Given the description of an element on the screen output the (x, y) to click on. 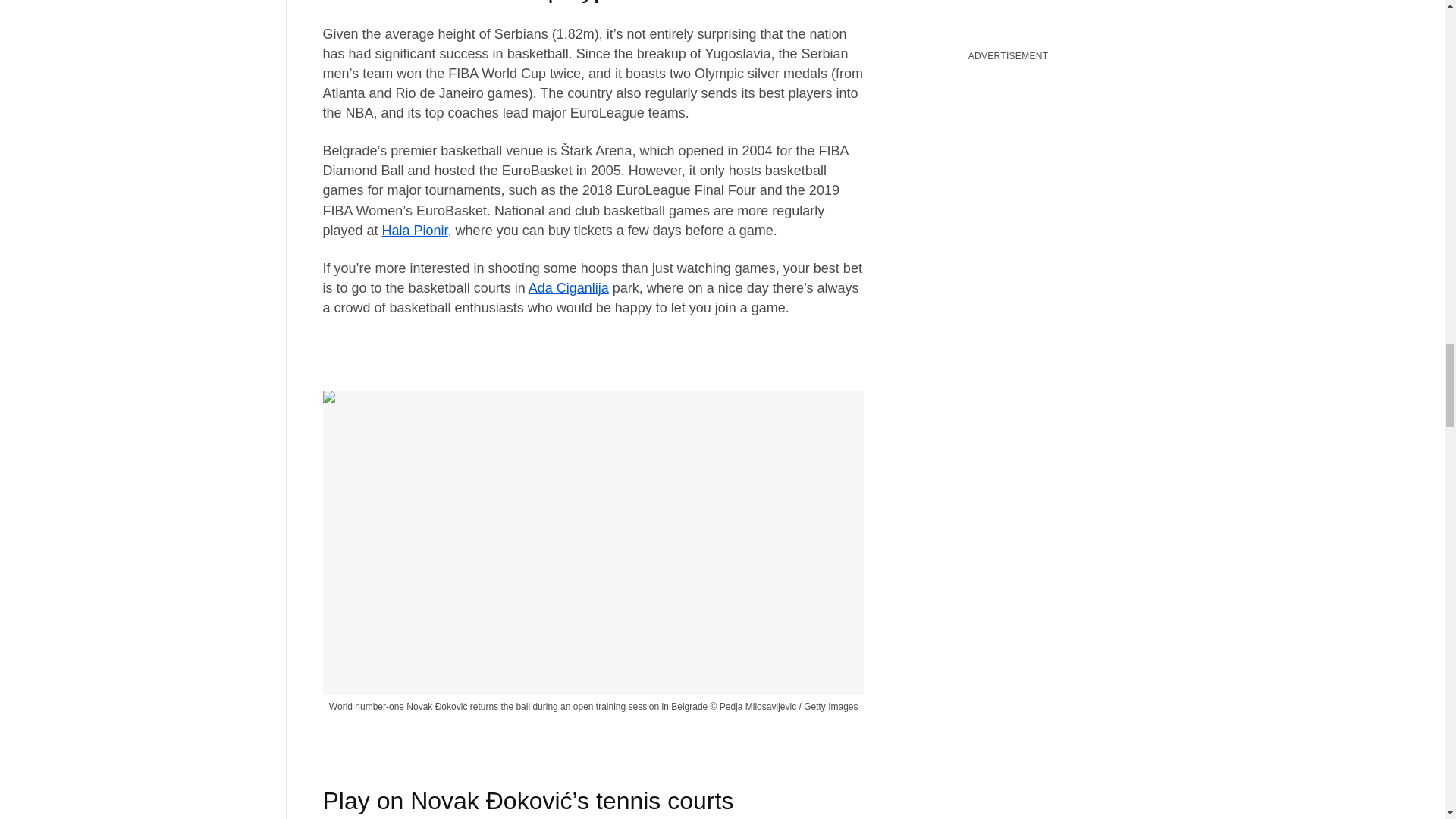
Ada Ciganlija (568, 287)
Hala Pionir (414, 230)
